Given the description of an element on the screen output the (x, y) to click on. 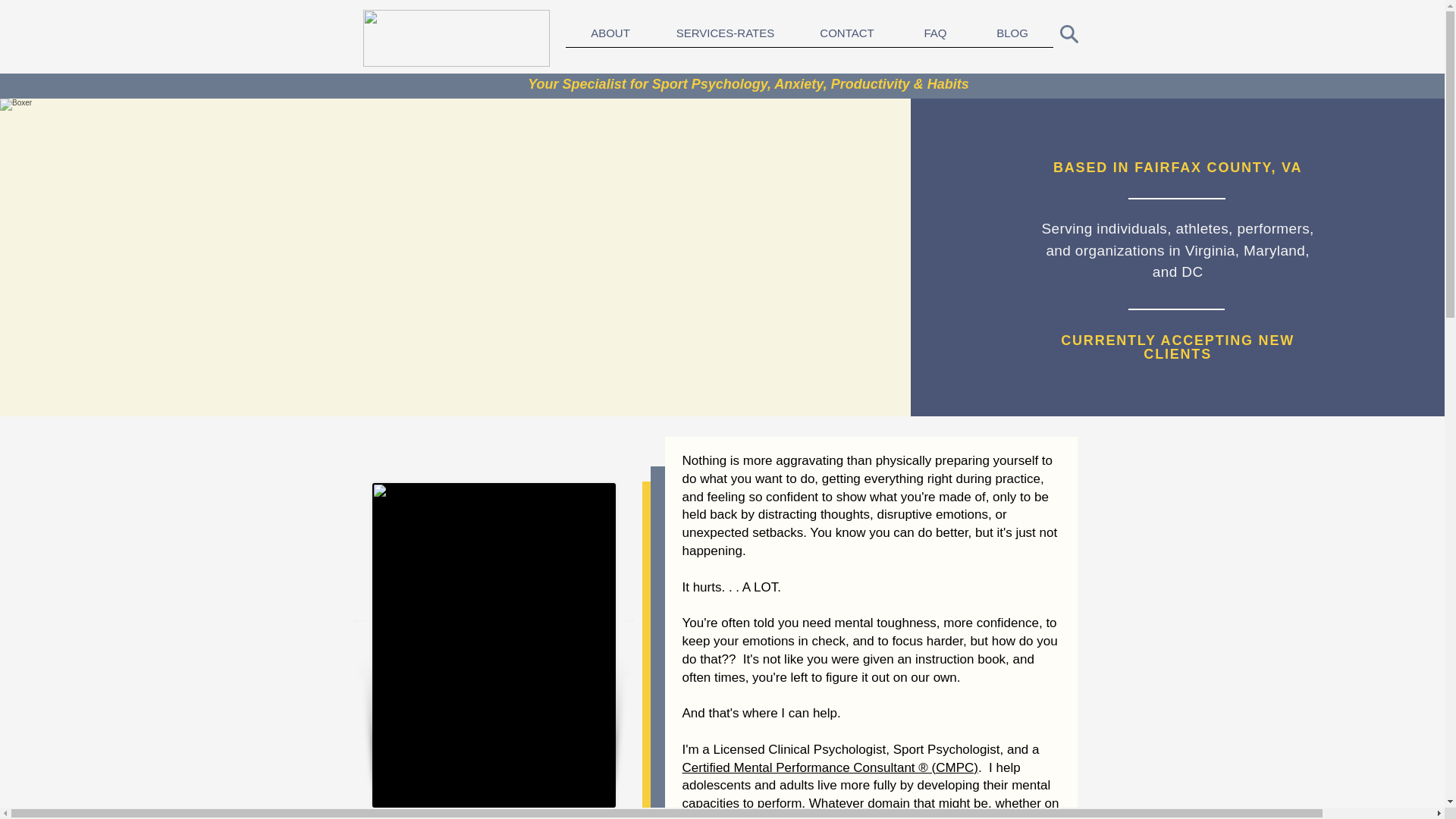
CONTACT (846, 37)
FAQ (935, 37)
Blue Transparent Header.png (455, 37)
BLOG (1012, 37)
